Given the description of an element on the screen output the (x, y) to click on. 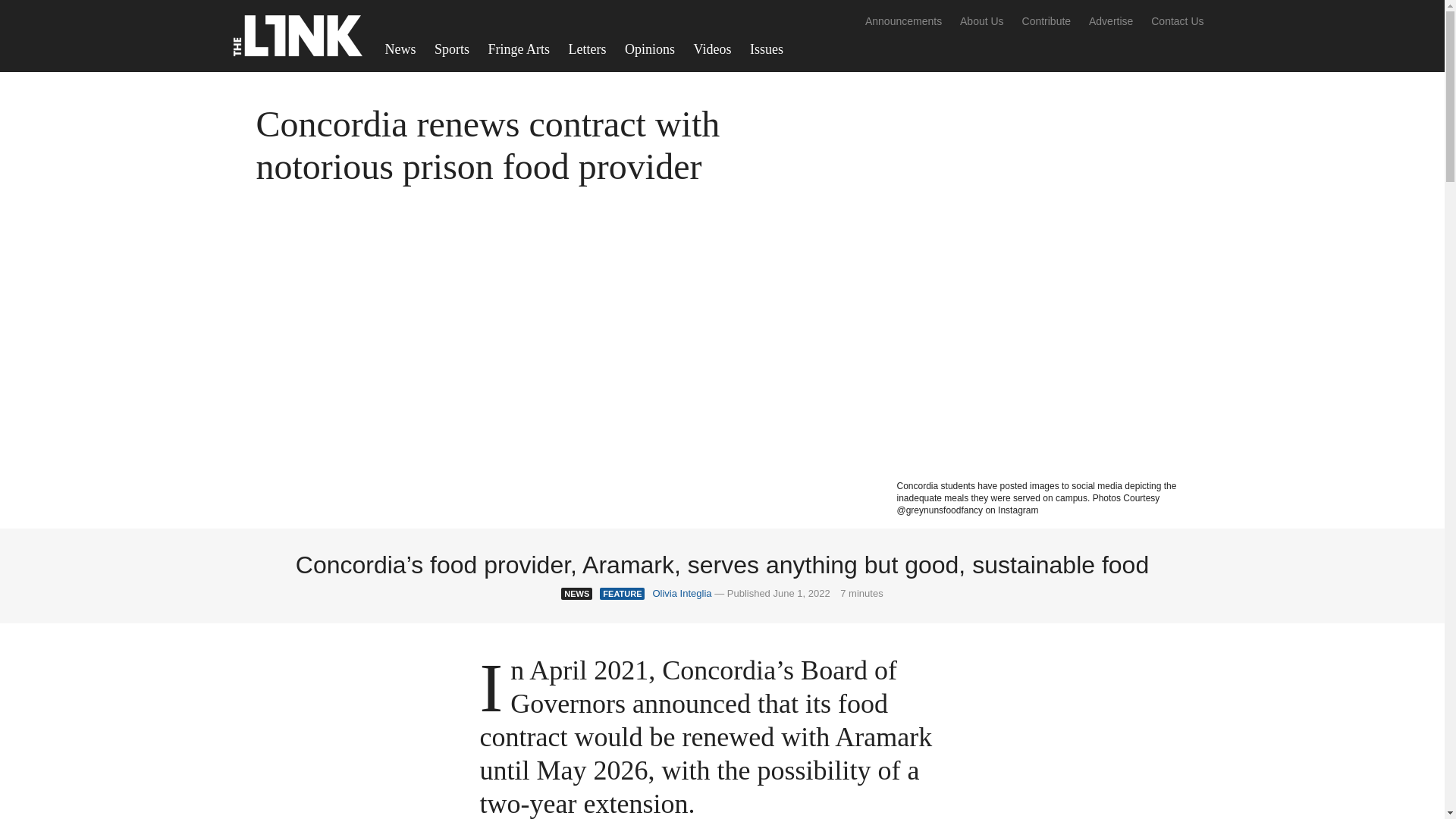
Sports (451, 49)
Opinions (649, 49)
News (400, 49)
Letters (587, 49)
Videos (712, 49)
Fringe Arts (518, 49)
